Given the description of an element on the screen output the (x, y) to click on. 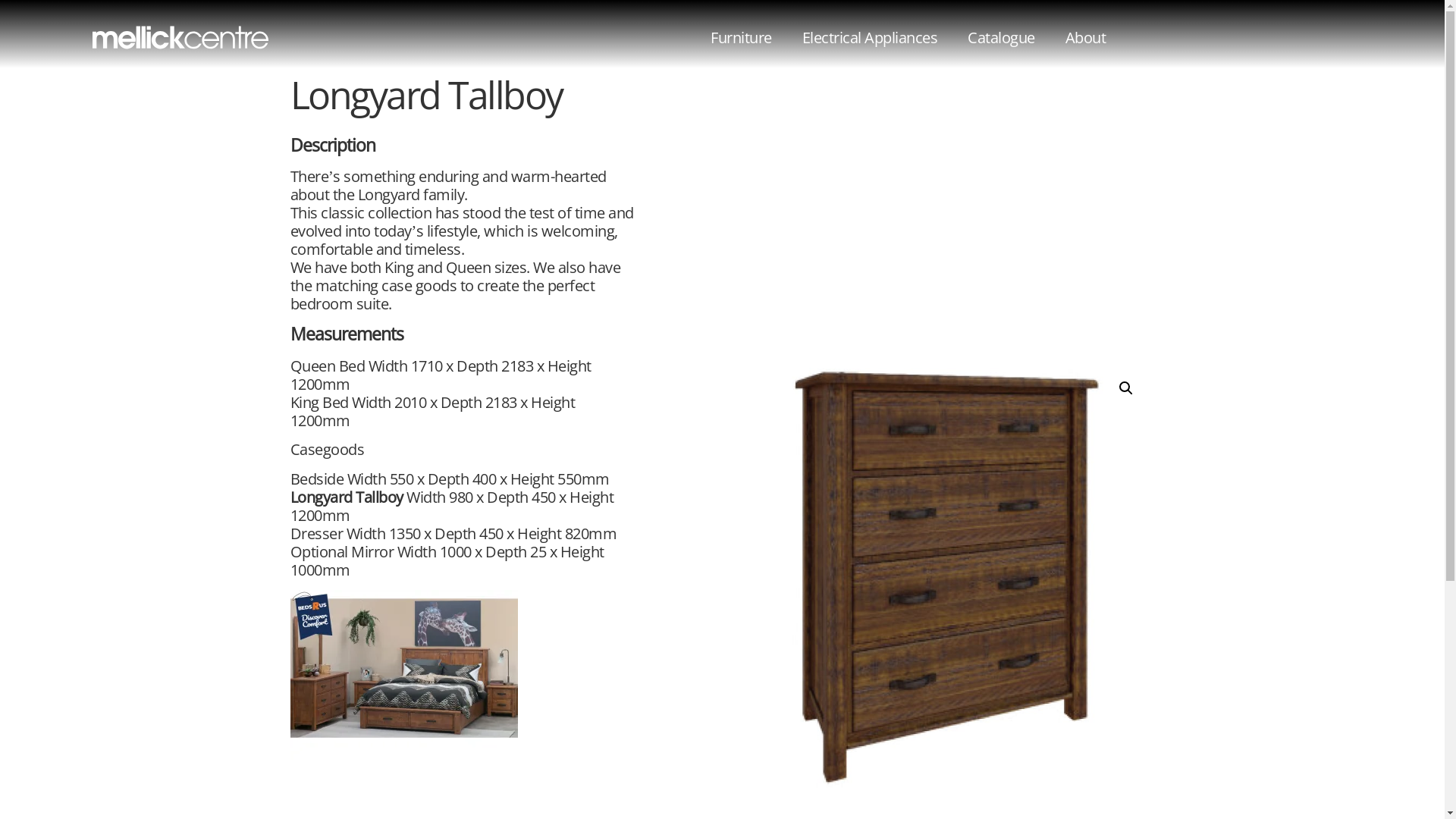
Catalogue Element type: text (1001, 37)
Longyard Tallboy Element type: hover (937, 575)
Furniture Element type: text (741, 37)
Longyard Tallboy 1 Element type: hover (403, 703)
Electrical Appliances Element type: text (870, 37)
About Element type: text (1085, 37)
